Given the description of an element on the screen output the (x, y) to click on. 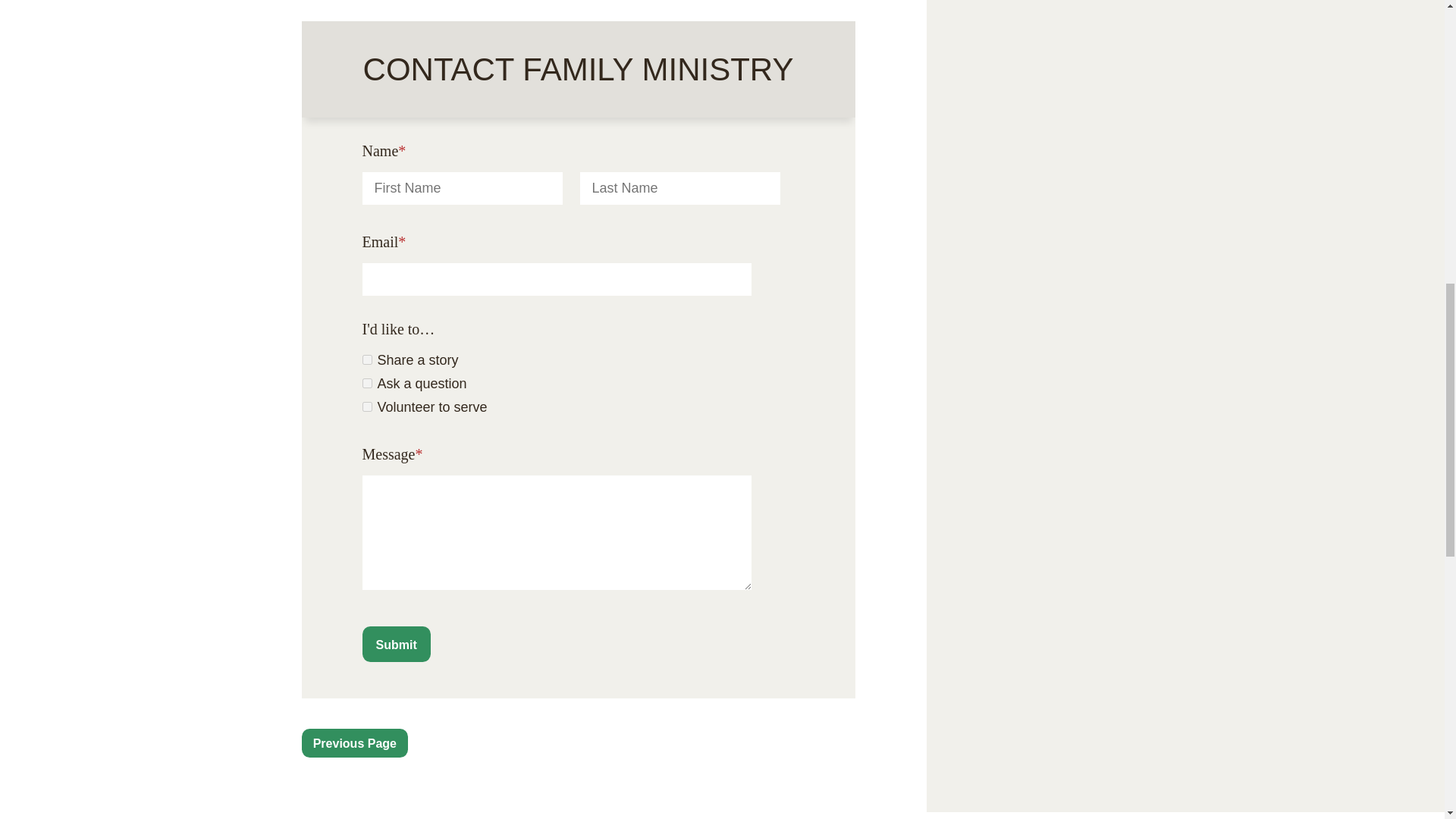
Submit (396, 643)
Ask a question (367, 383)
Volunteer to serve (367, 406)
Share a story (367, 359)
